Given the description of an element on the screen output the (x, y) to click on. 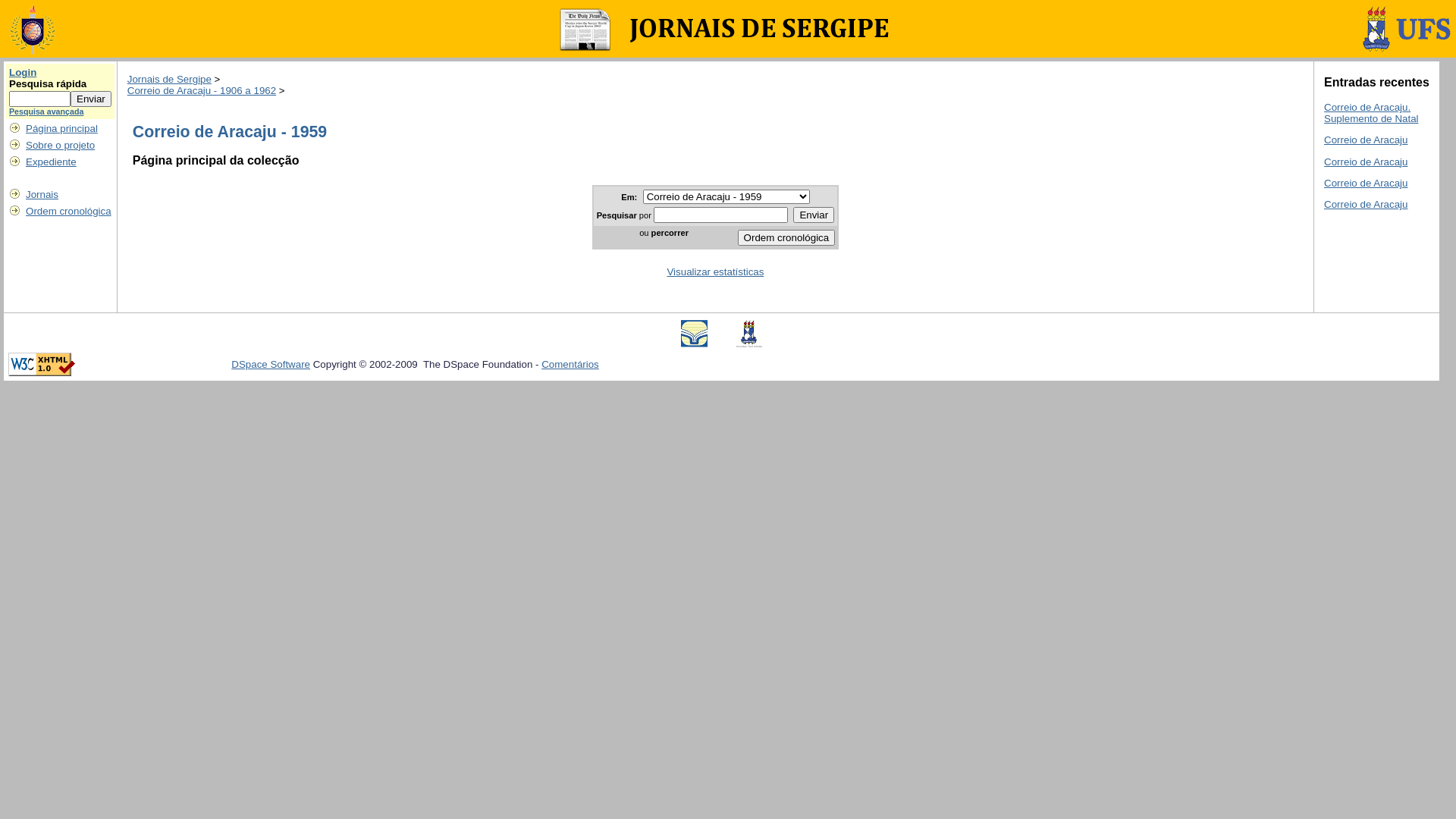
DSpace Software Element type: text (270, 364)
Login Element type: text (22, 72)
Correio de Aracaju - 1906 a 1962 Element type: text (201, 90)
Bibliotecas da UFS Element type: hover (693, 343)
Enviar Element type: text (90, 98)
Expediente Element type: text (50, 161)
Jornais de Sergipe Element type: text (169, 78)
Correio de Aracaju. Suplemento de Natal Element type: text (1371, 112)
Correio de Aracaju Element type: text (1365, 161)
Sobre o projeto Element type: text (59, 144)
Jornais Element type: text (41, 193)
Correio de Aracaju Element type: text (1365, 182)
Enviar Element type: text (813, 214)
UFS - Universidade Federal de Sergipe Element type: hover (749, 343)
Correio de Aracaju Element type: text (1365, 139)
Correio de Aracaju Element type: text (1365, 204)
